Given the description of an element on the screen output the (x, y) to click on. 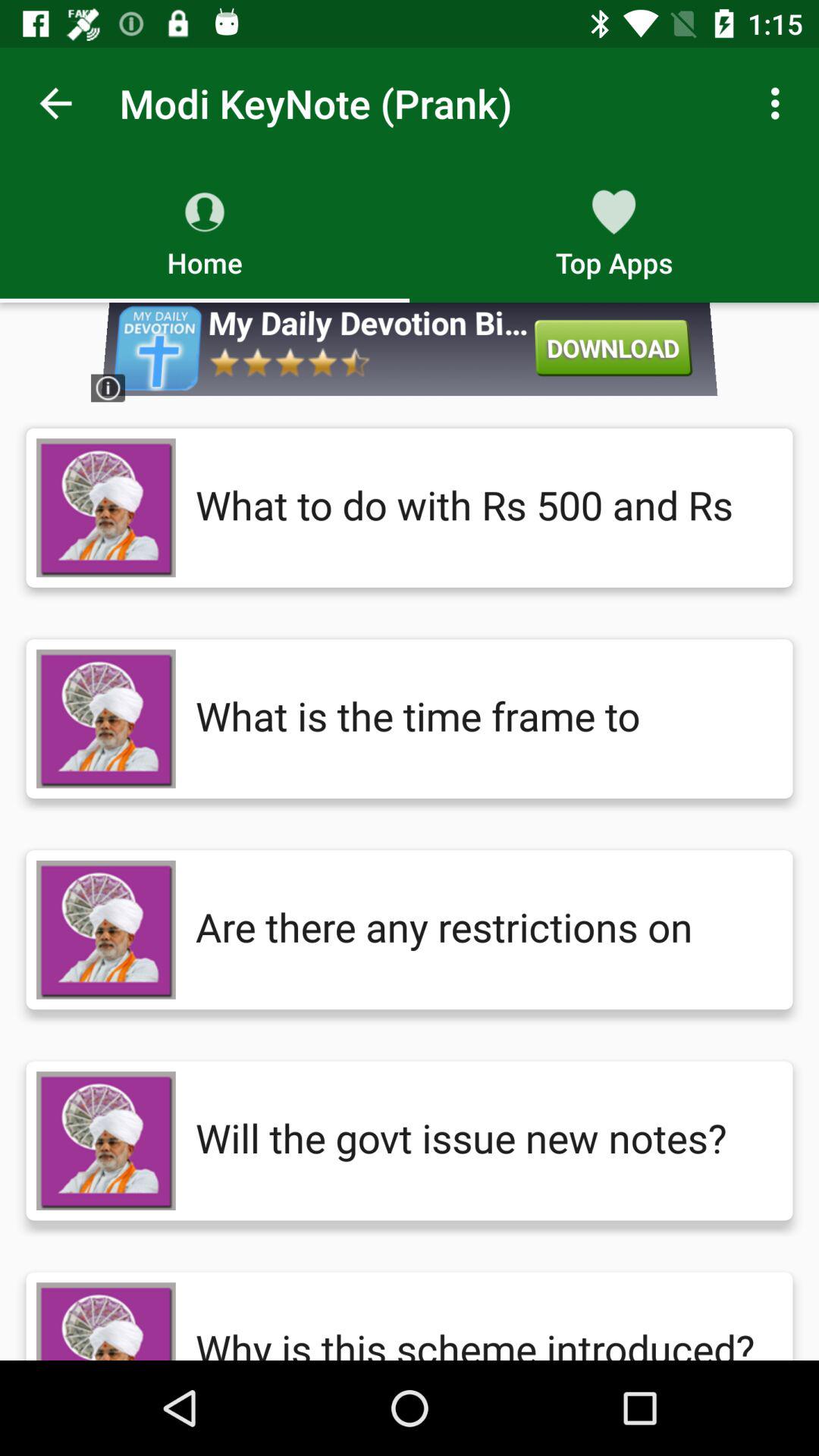
open the app to the left of modi keynote (prank) icon (55, 103)
